Given the description of an element on the screen output the (x, y) to click on. 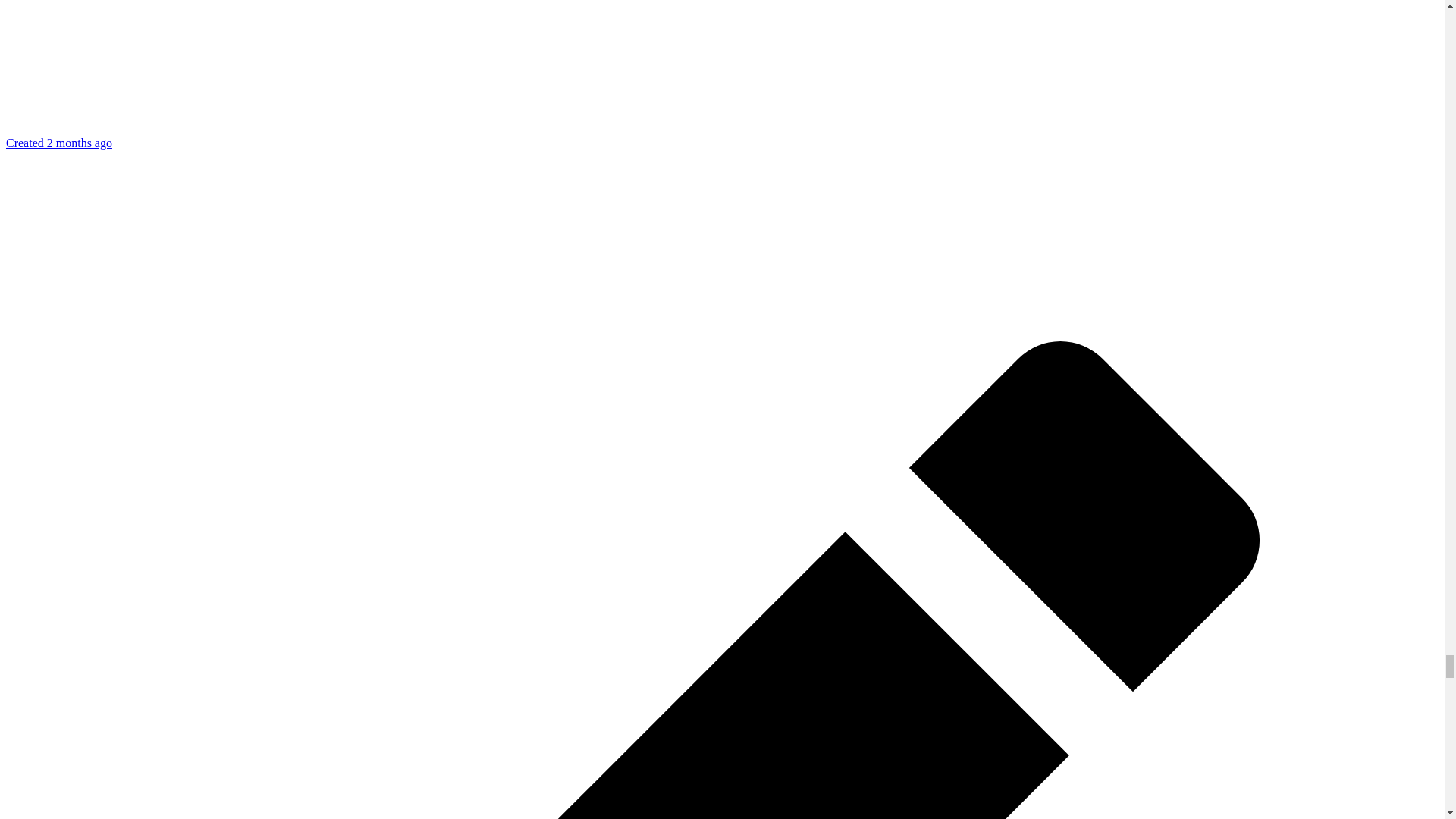
Thu, May 23, 2024 1:43 AM (58, 142)
